Given the description of an element on the screen output the (x, y) to click on. 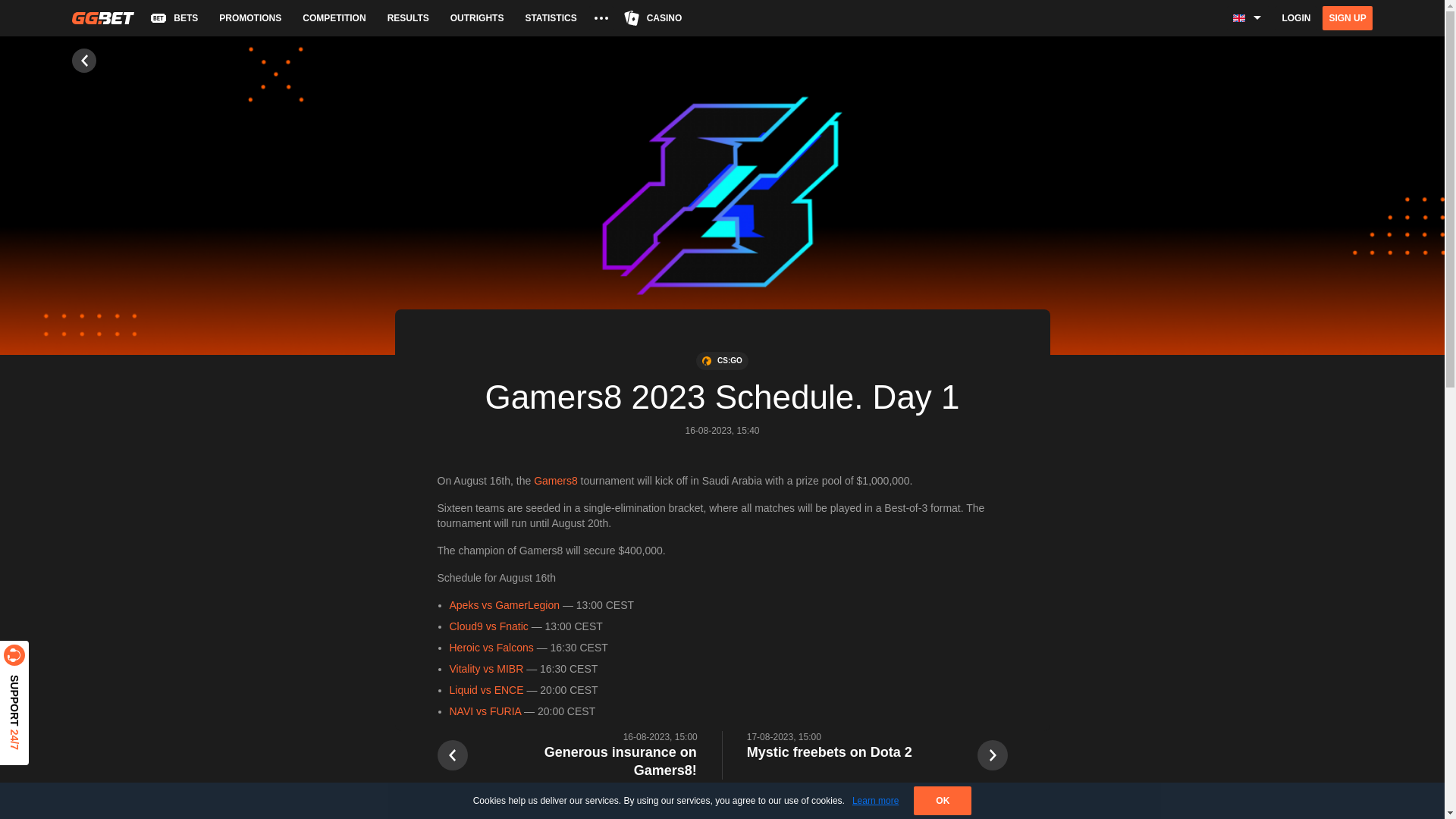
Liquid vs ENCE (485, 689)
PROMOTIONS (247, 17)
Vitality vs MIBR (485, 668)
OUTRIGHTS (476, 17)
Generous insurance on Gamers8! (588, 760)
BETS (175, 17)
Gamers8 (556, 480)
RESULTS (406, 17)
COMPETITION (332, 17)
Mystic freebets on Dota 2 (829, 751)
STATISTICS (548, 17)
Cloud9 vs Fnatic (487, 625)
CASINO (654, 17)
Apeks vs GamerLegion (503, 604)
NAVI vs FURIA (484, 711)
